Given the description of an element on the screen output the (x, y) to click on. 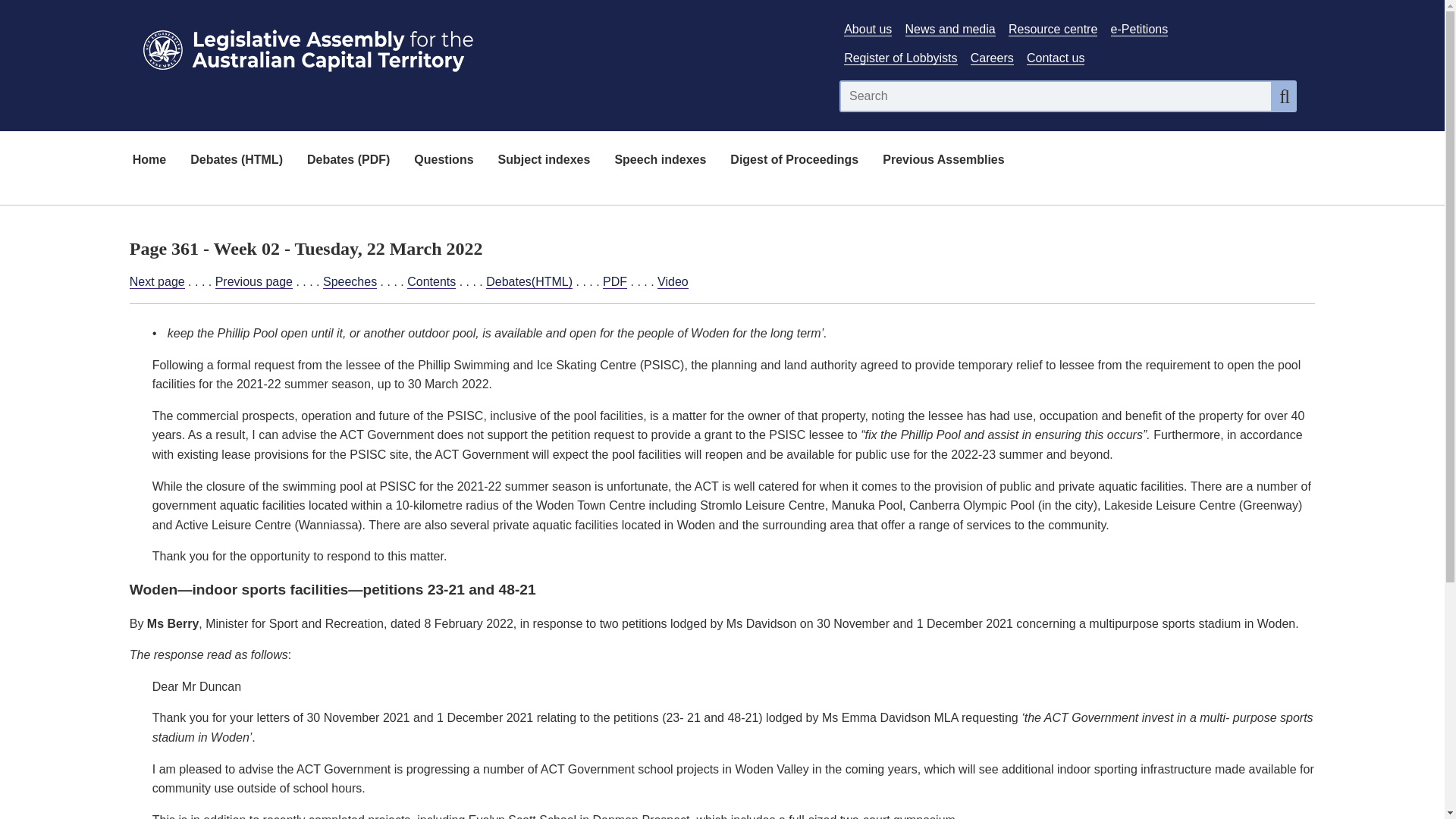
Link to Careers (992, 58)
Resource centre (1053, 29)
Link to Homepage (475, 46)
Previous Assemblies (943, 160)
Link to About Us (867, 29)
Link to Register of Lobbyists (900, 58)
e-Petitions (1139, 29)
Video (673, 282)
Careers (992, 58)
Speech indexes (659, 160)
PDF (614, 282)
Digest of Proceedings (793, 160)
Home (148, 160)
About us (867, 29)
Link to News and media (950, 29)
